Given the description of an element on the screen output the (x, y) to click on. 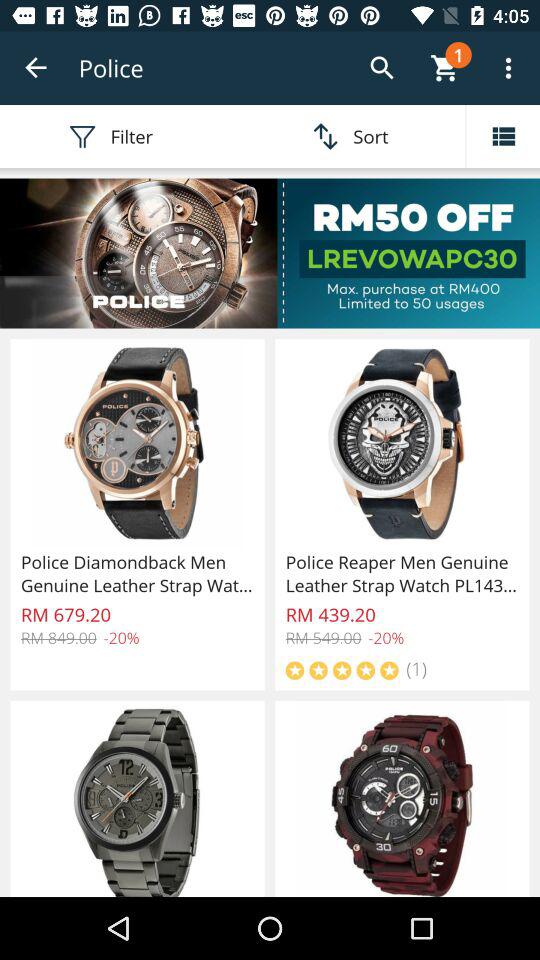
show options in list (503, 136)
